Given the description of an element on the screen output the (x, y) to click on. 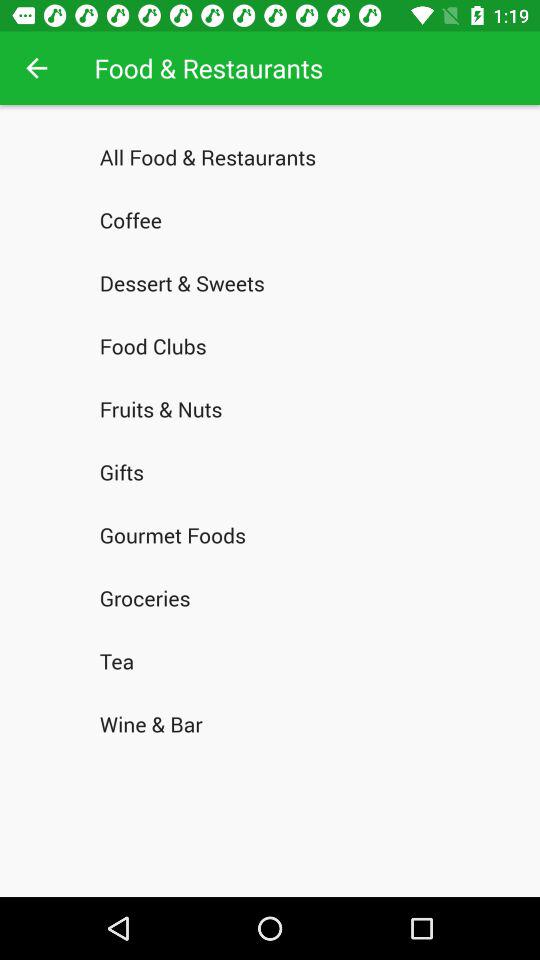
open the app to the left of food & restaurants item (36, 68)
